Given the description of an element on the screen output the (x, y) to click on. 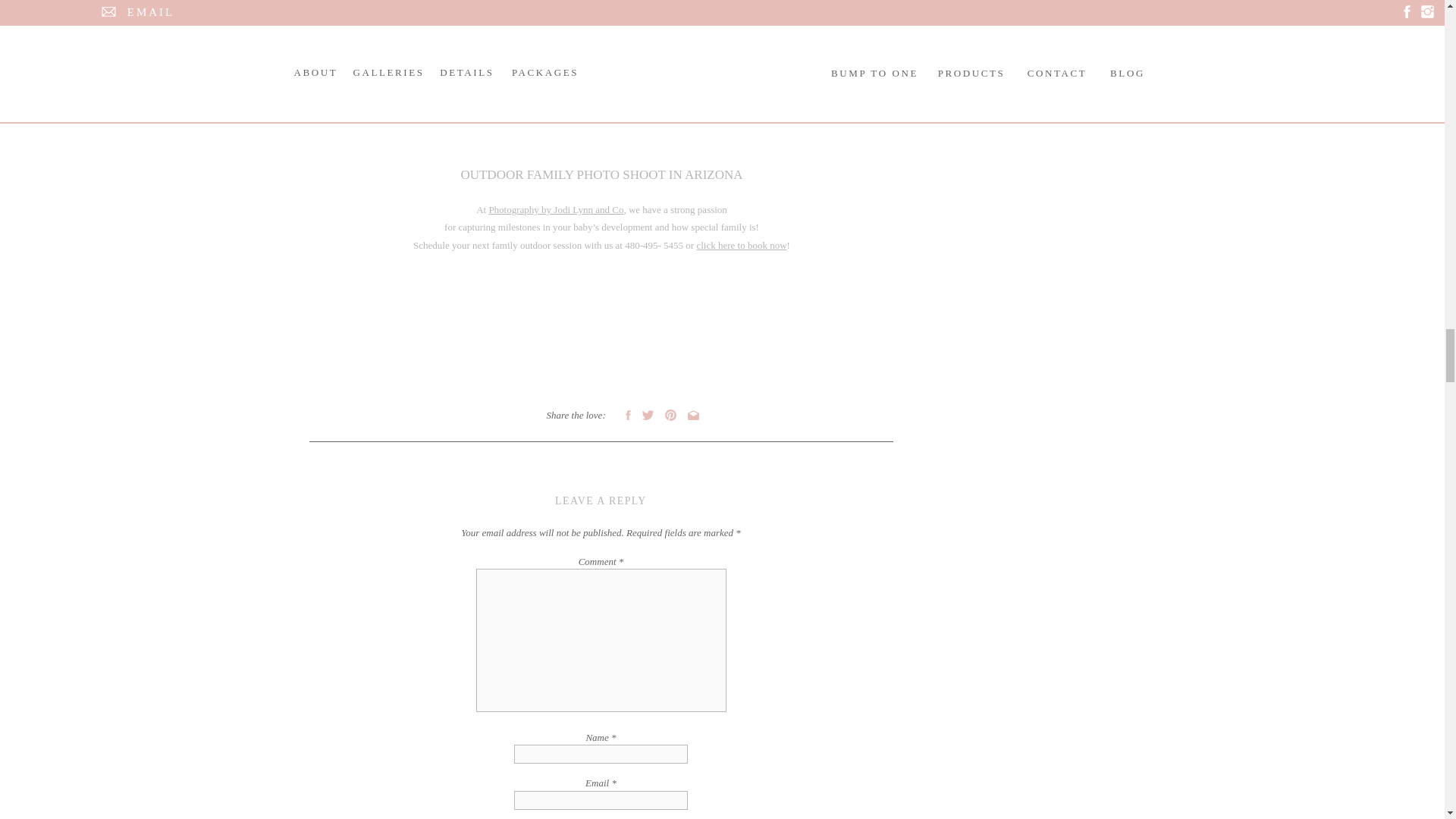
Photography by Jodi Lynn and Co (555, 209)
click here to book now (740, 244)
